Given the description of an element on the screen output the (x, y) to click on. 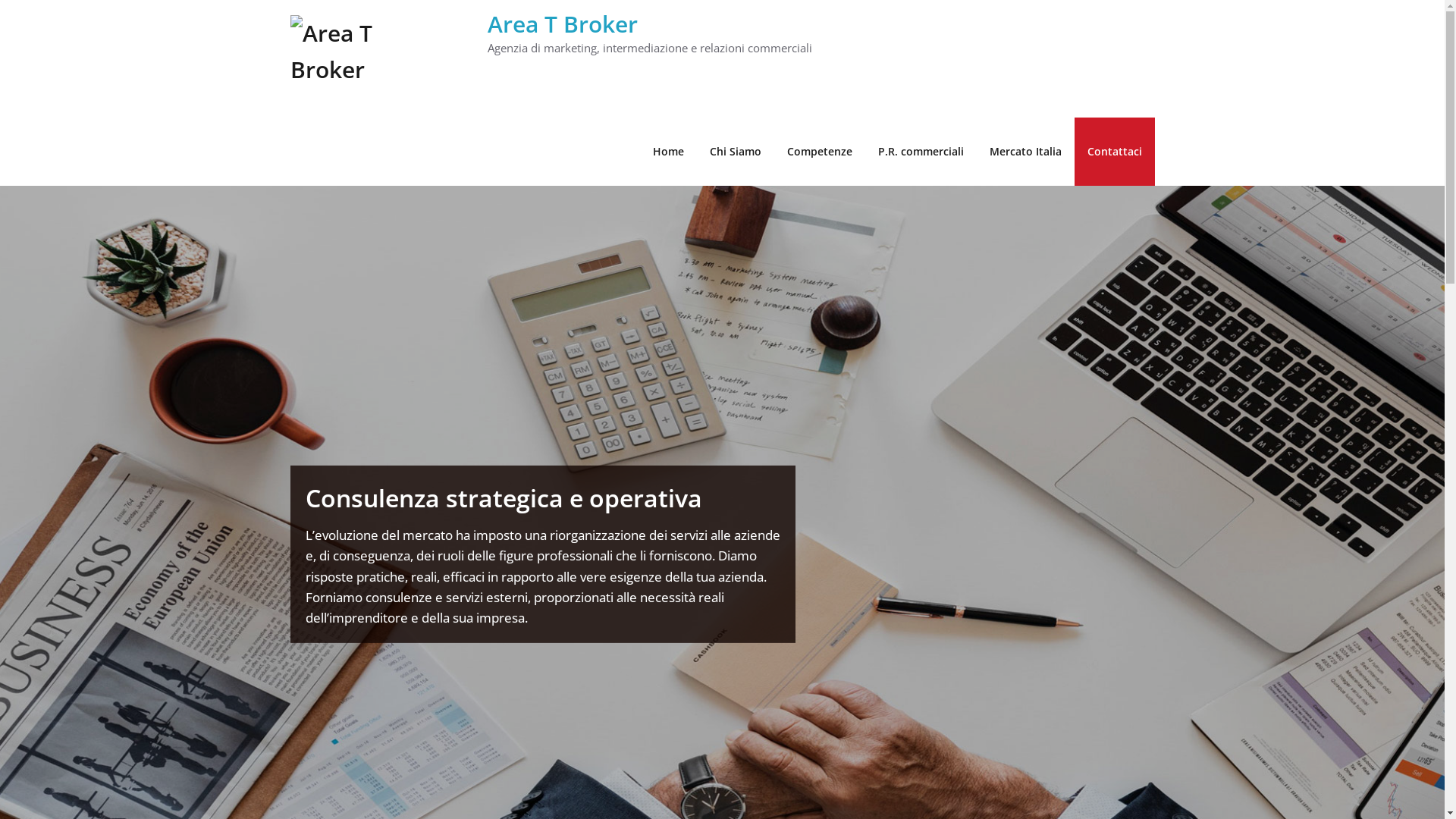
Home Element type: text (668, 151)
Contattaci Element type: text (1113, 151)
Chi Siamo Element type: text (734, 151)
Competenze Element type: text (818, 151)
Area T Broker Element type: text (561, 23)
Mercato Italia Element type: text (1025, 151)
P.R. commerciali Element type: text (919, 151)
